Given the description of an element on the screen output the (x, y) to click on. 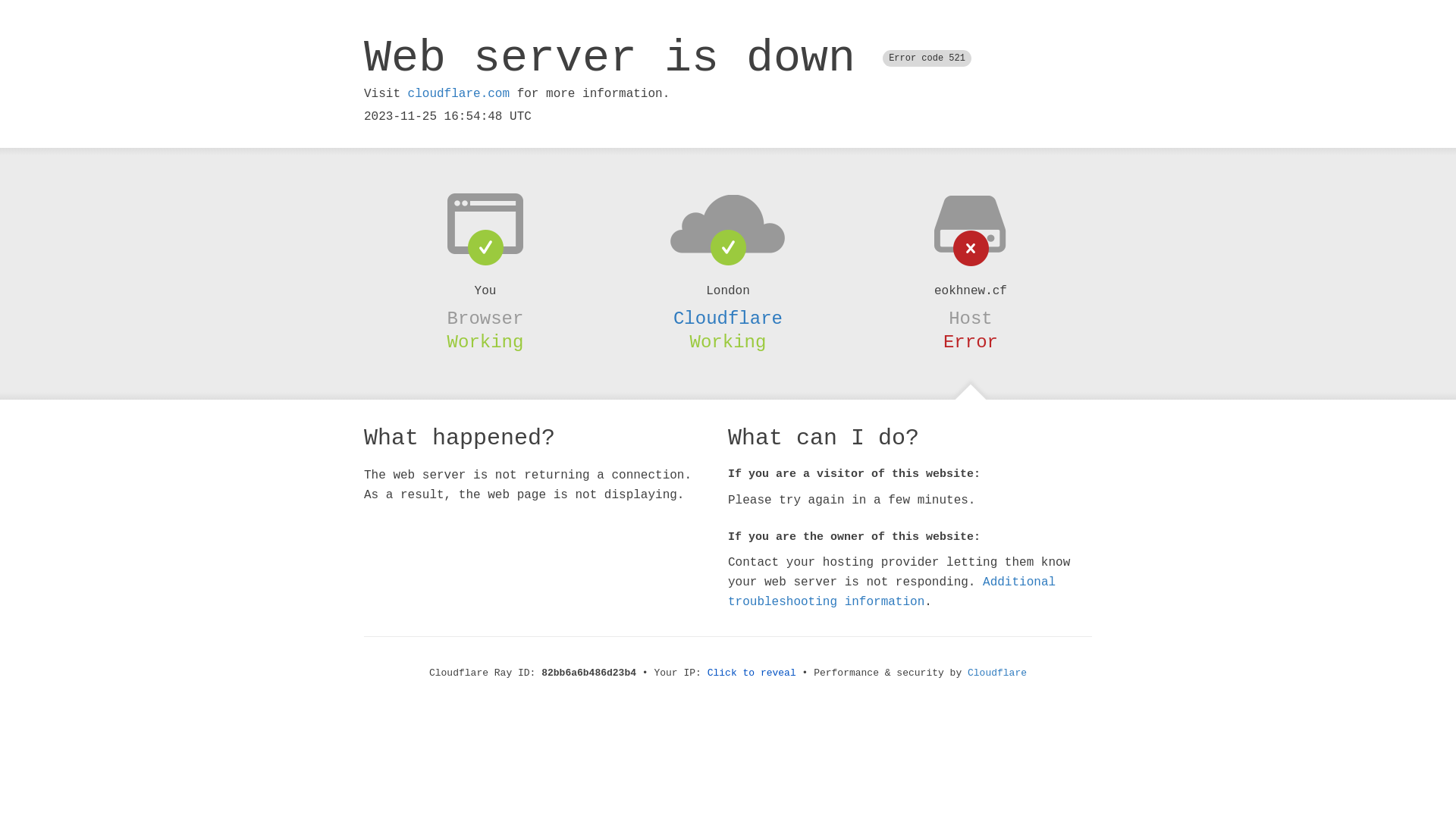
Cloudflare Element type: text (996, 672)
Cloudflare Element type: text (727, 318)
Click to reveal Element type: text (751, 672)
cloudflare.com Element type: text (458, 93)
Additional troubleshooting information Element type: text (891, 591)
